Given the description of an element on the screen output the (x, y) to click on. 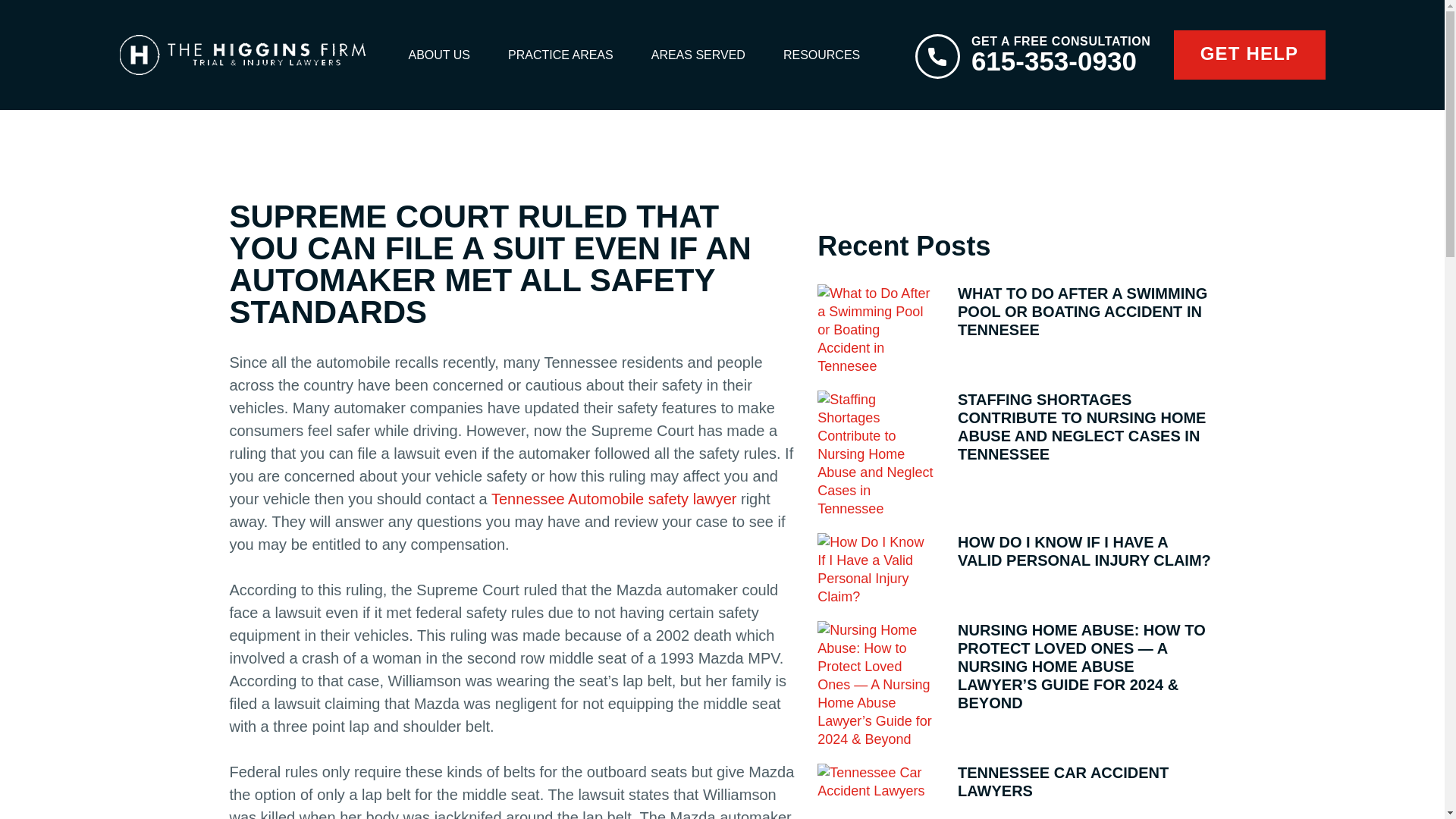
HOW DO I KNOW IF I HAVE A VALID PERSONAL INJURY CLAIM? (1015, 569)
The Higgins Law Firm (248, 55)
AREAS SERVED (698, 55)
TENNESSEE CAR ACCIDENT LAWYERS (1015, 781)
ABOUT US (439, 55)
Tennessee Automobile safety lawyer (616, 498)
GET HELP (1033, 54)
PRACTICE AREAS (1248, 54)
